Given the description of an element on the screen output the (x, y) to click on. 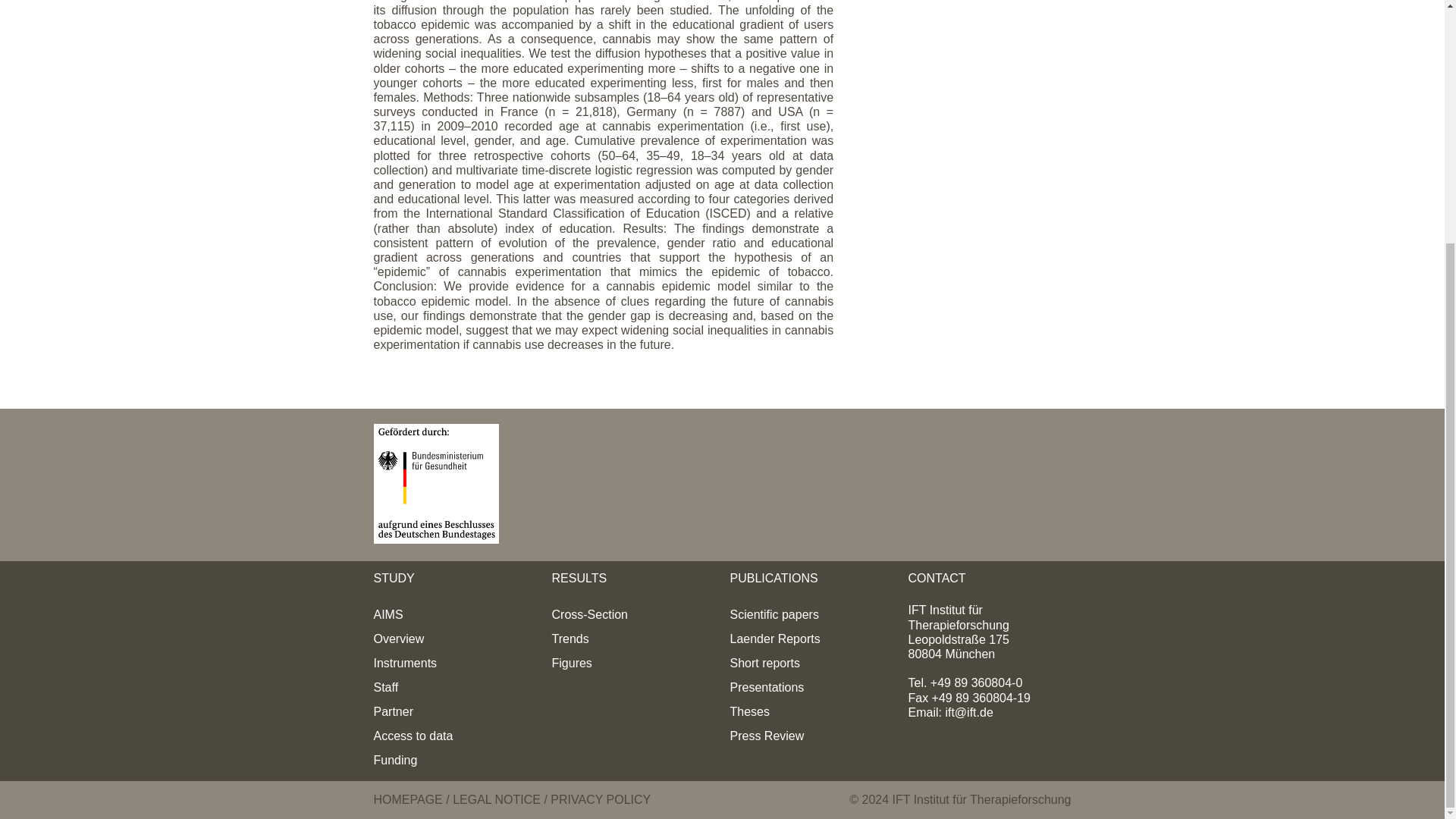
Scientific papers (773, 614)
Access to data (412, 735)
Partner (392, 711)
Instruments (404, 662)
AIMS (387, 614)
Cross-Section (589, 614)
Figures (571, 662)
Overview (397, 638)
Trends (570, 638)
Funding (394, 759)
